Given the description of an element on the screen output the (x, y) to click on. 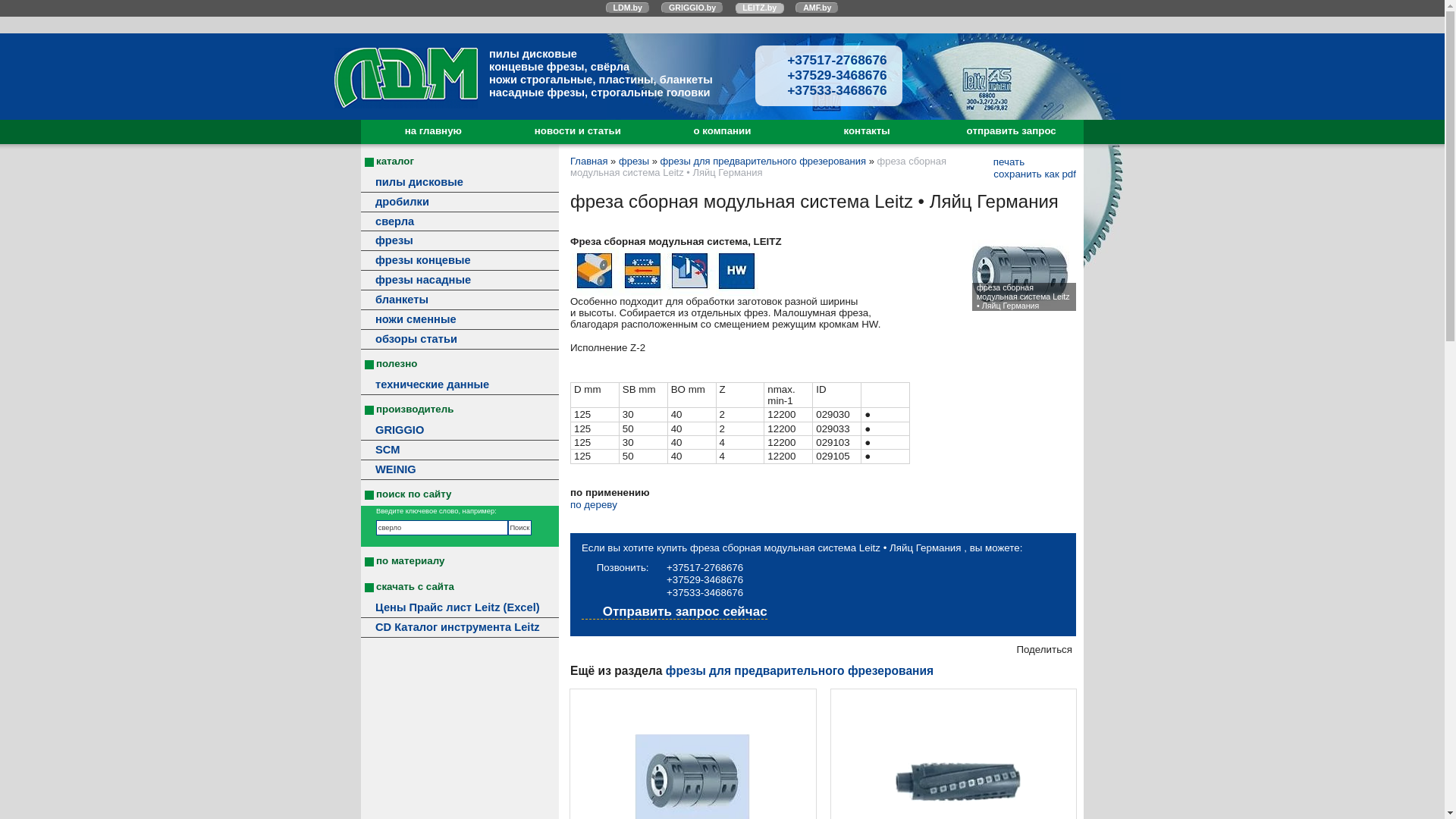
GRIGGIO.by Element type: text (692, 7)
+37517-2768676 Element type: text (828, 59)
SCM Element type: text (459, 450)
+37529-3468676 Element type: text (828, 74)
+37529-3468676 Element type: text (697, 579)
+37533-3468676 Element type: text (828, 89)
GRIGGIO Element type: text (459, 430)
LDM.by Element type: text (627, 7)
AMF.by Element type: text (816, 7)
+37533-3468676 Element type: text (697, 592)
WEINIG Element type: text (459, 470)
+37517-2768676 Element type: text (697, 567)
LEITZ.by Element type: text (759, 7)
